Given the description of an element on the screen output the (x, y) to click on. 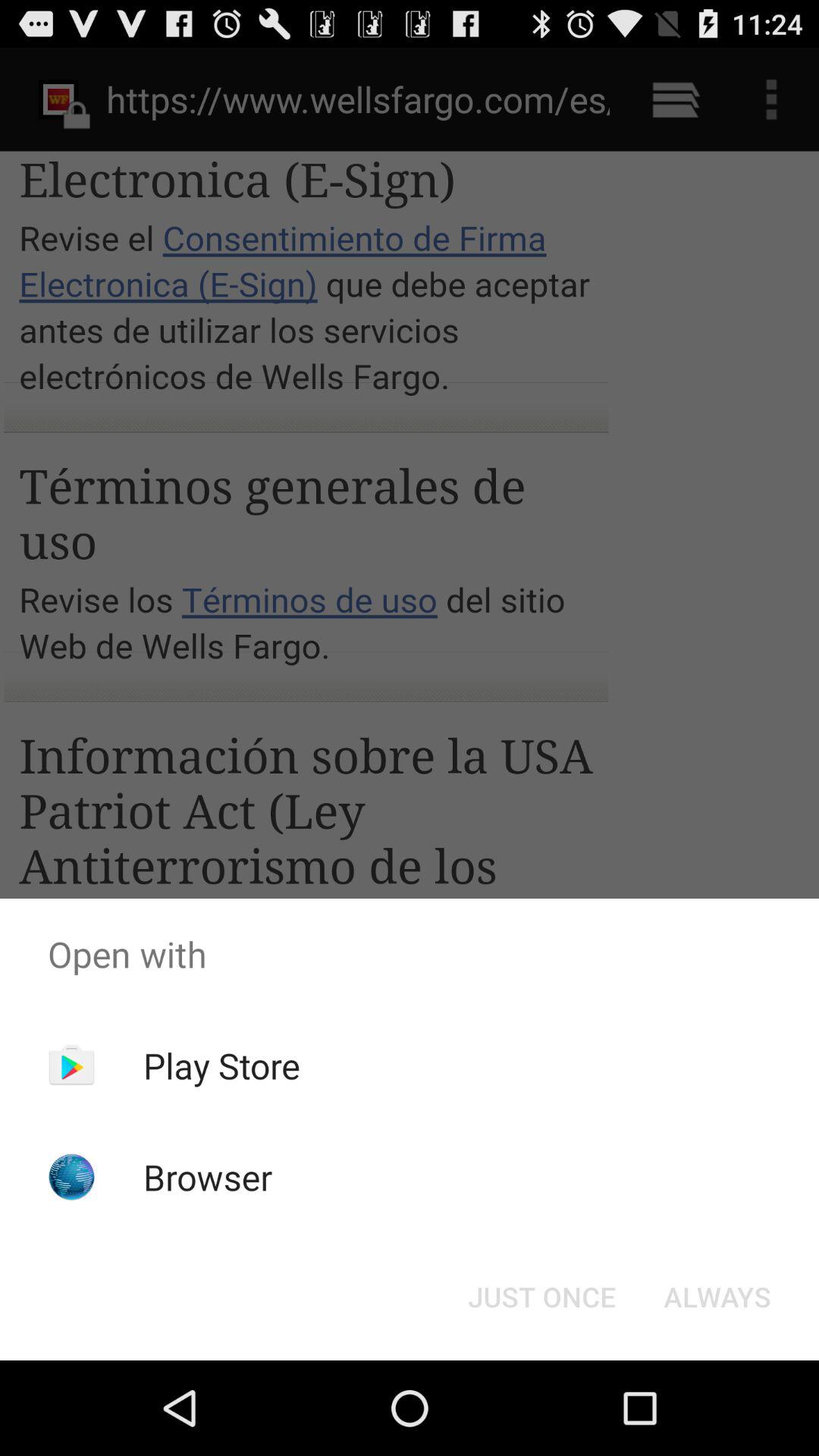
launch the icon next to the always button (541, 1296)
